Given the description of an element on the screen output the (x, y) to click on. 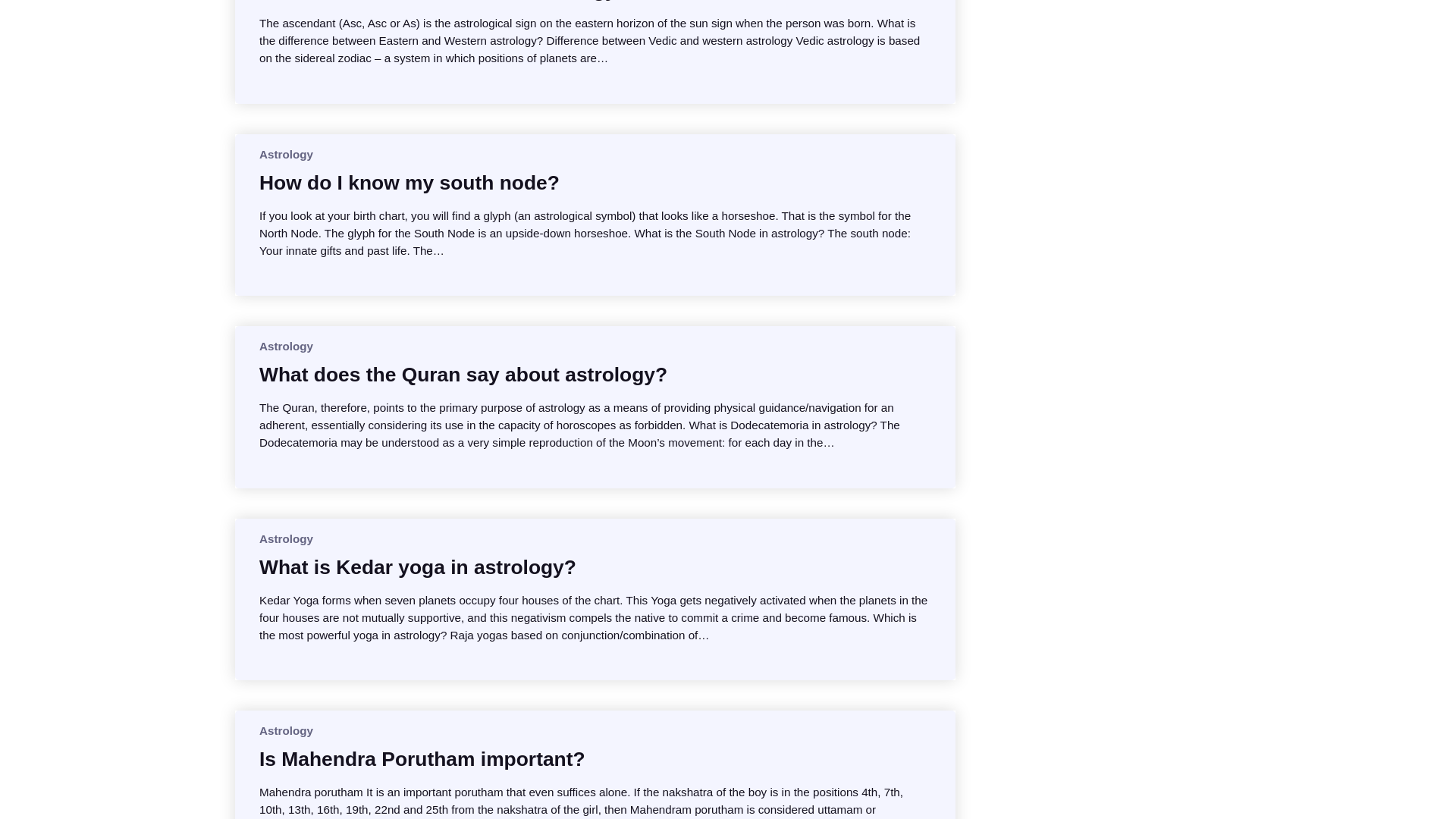
Astrology (286, 154)
Astrology (286, 345)
What does the Quran say about astrology? (462, 374)
How do I know my south node? (409, 182)
